Given the description of an element on the screen output the (x, y) to click on. 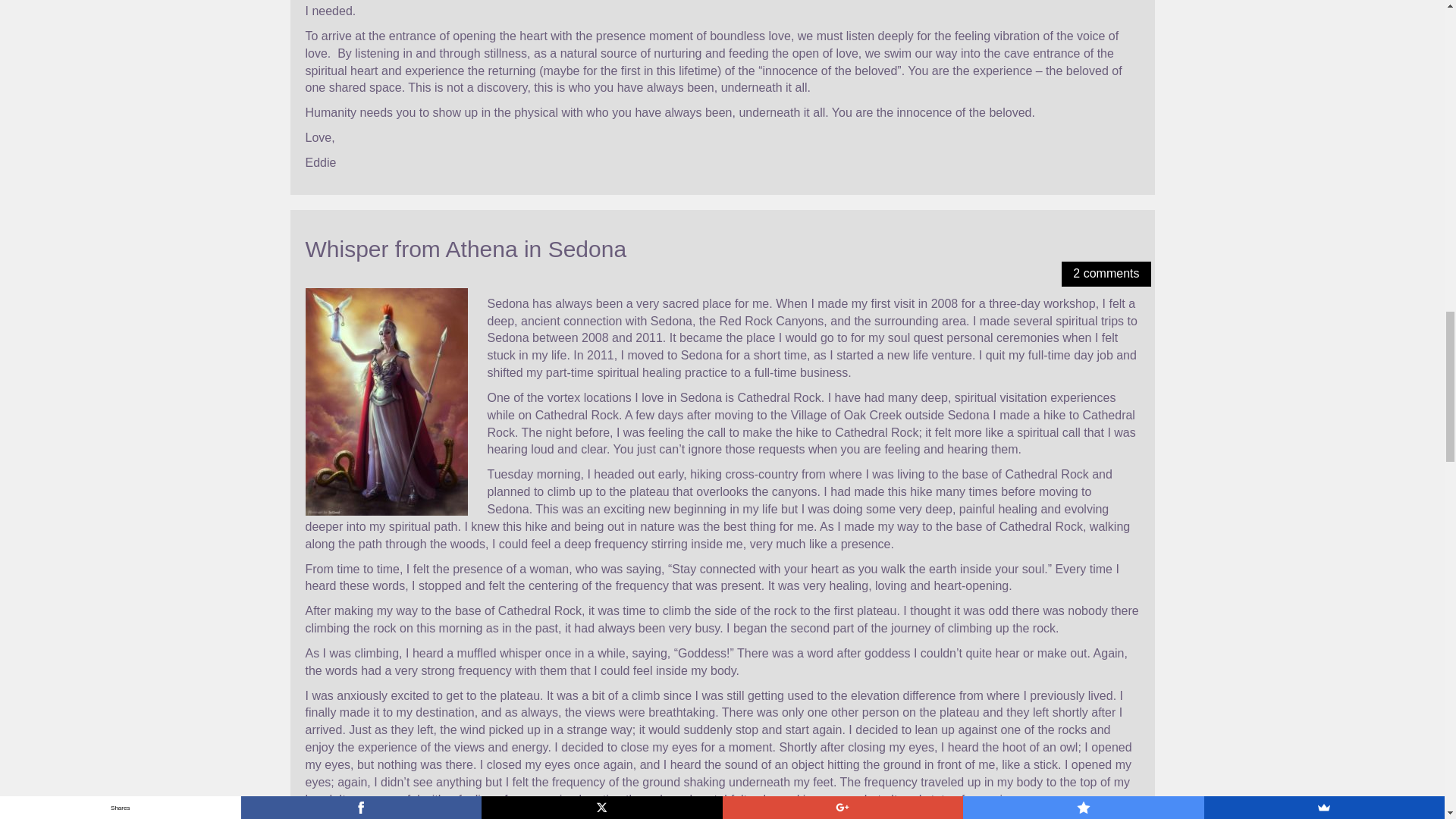
Whisper from Athena in Sedona (465, 248)
